Given the description of an element on the screen output the (x, y) to click on. 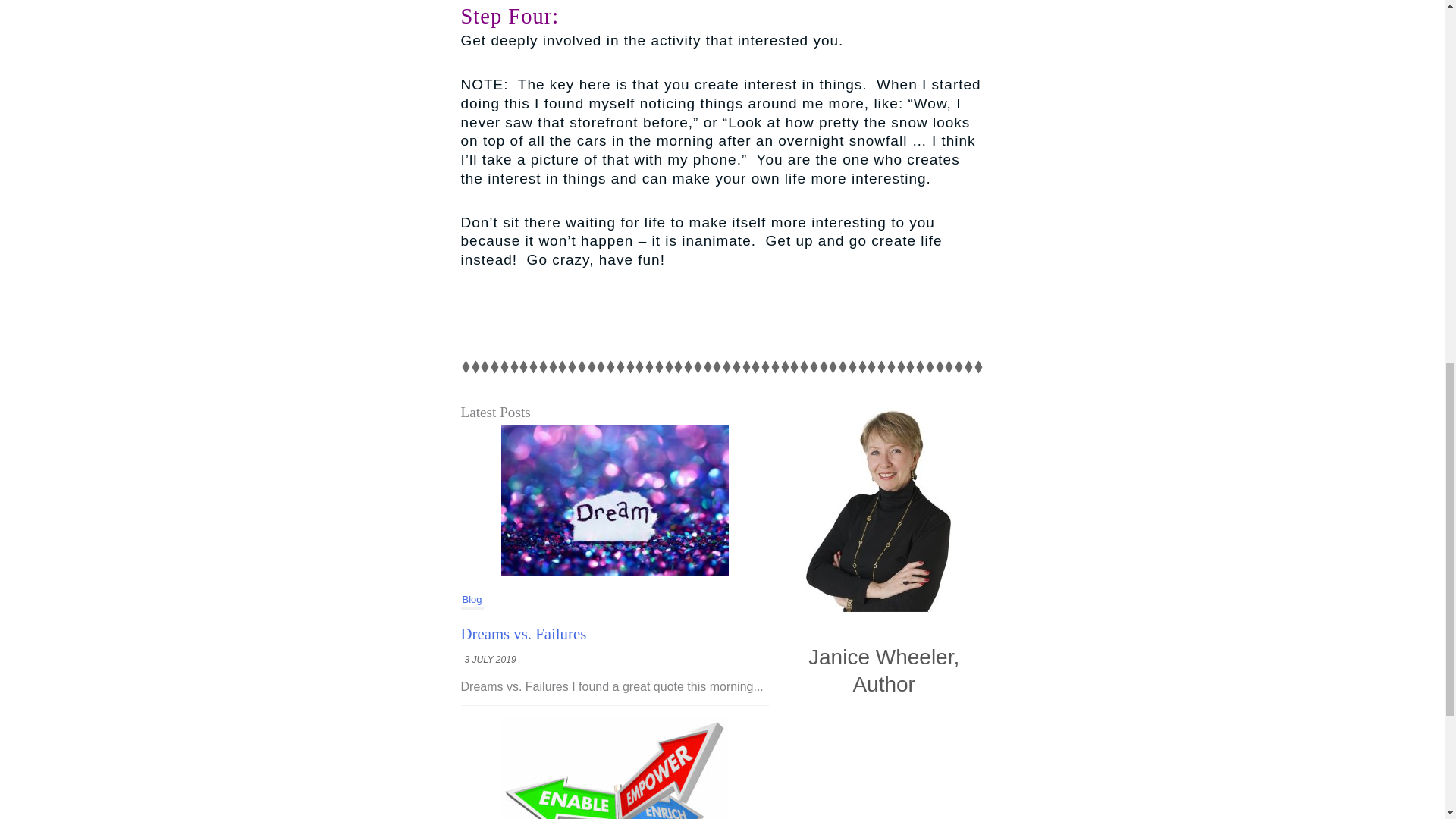
Dreams vs. Failures (523, 633)
Blog (472, 600)
